Given the description of an element on the screen output the (x, y) to click on. 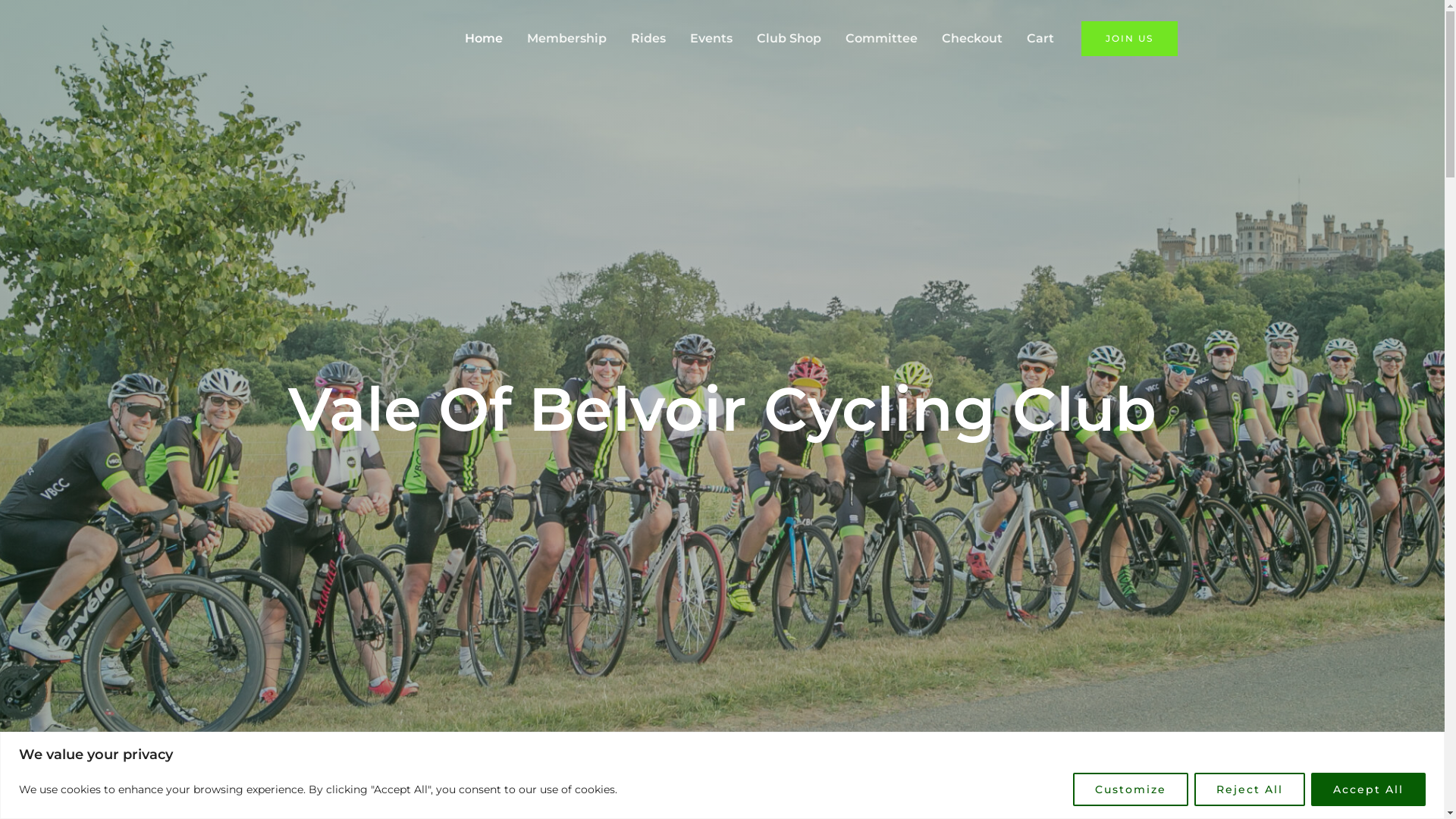
Committee Element type: text (880, 38)
Membership Element type: text (566, 38)
Reject All Element type: text (1249, 788)
Checkout Element type: text (971, 38)
Accept All Element type: text (1368, 788)
Home Element type: text (482, 38)
Cart Element type: text (1040, 38)
Events Element type: text (710, 38)
Club Shop Element type: text (788, 38)
Customize Element type: text (1130, 788)
Rides Element type: text (647, 38)
JOIN US Element type: text (1129, 38)
